Given the description of an element on the screen output the (x, y) to click on. 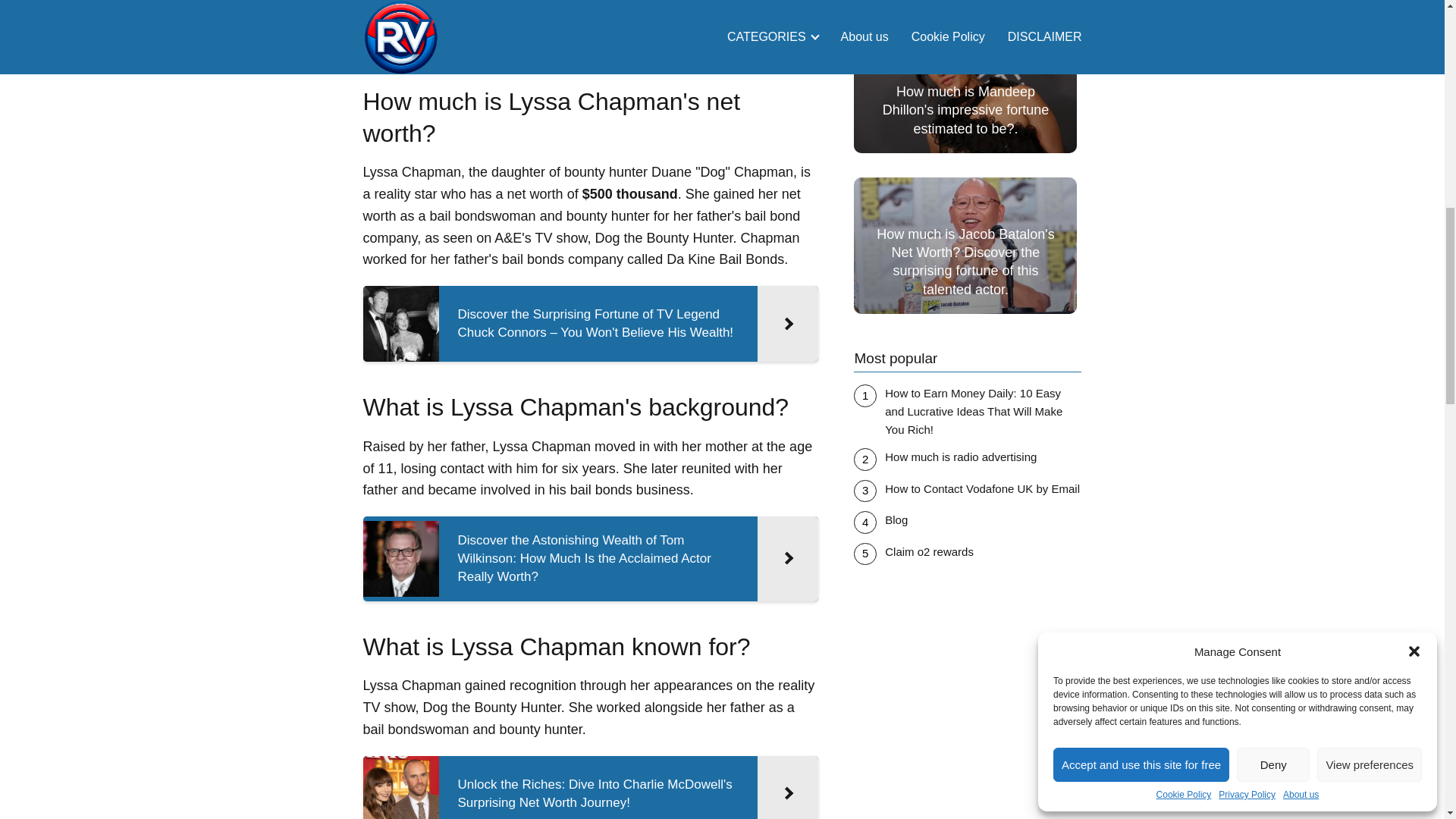
What is Lyssa Chapman's upcoming project? (534, 4)
Additional Information (472, 24)
